Given the description of an element on the screen output the (x, y) to click on. 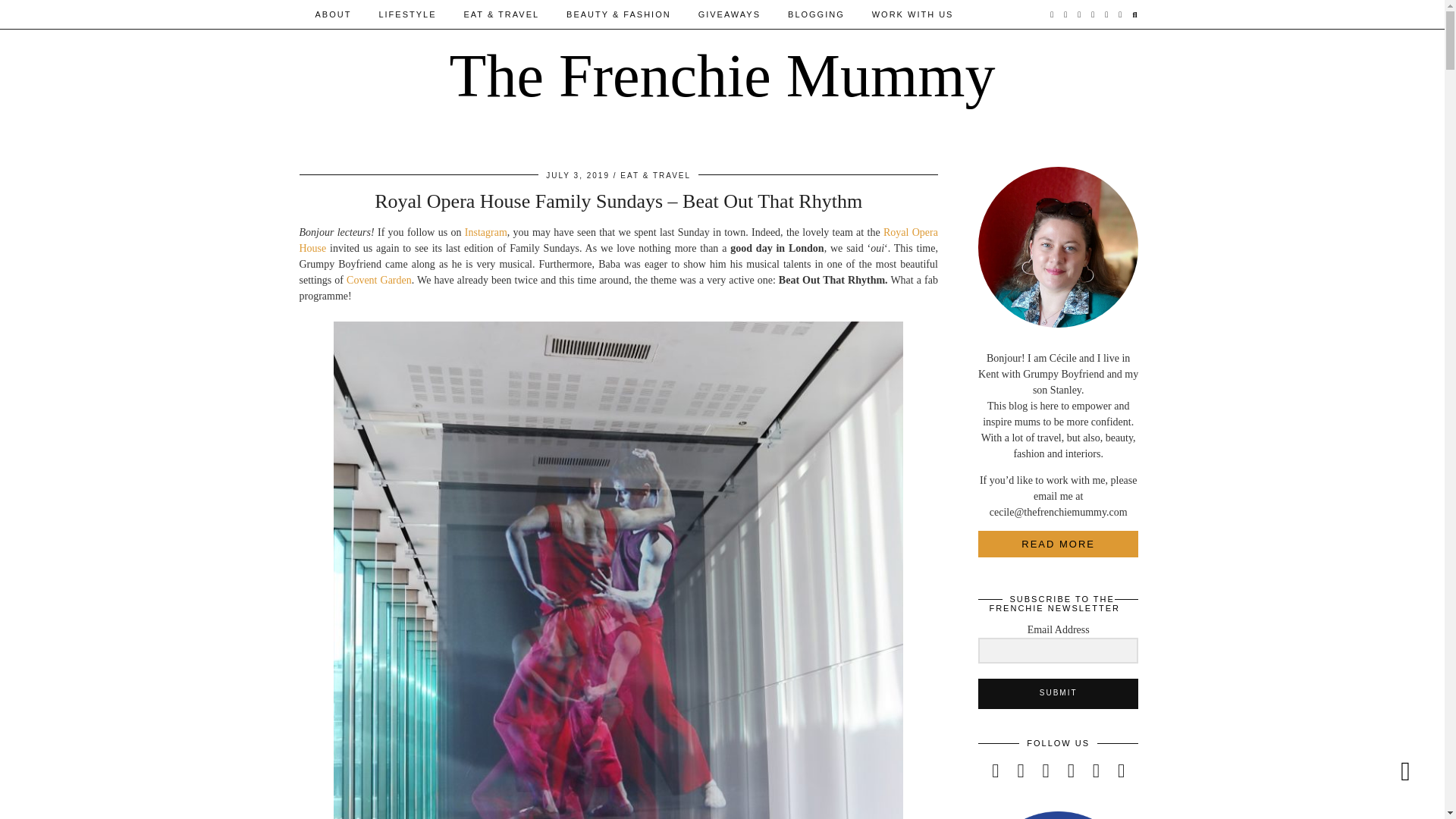
The Frenchie Mummy (722, 75)
GIVEAWAYS (729, 14)
The Frenchie Mummy (722, 75)
LIFESTYLE (407, 14)
Covent Garden (379, 279)
BLOGGING (816, 14)
WORK WITH US (913, 14)
Instagram (485, 232)
ABOUT (333, 14)
Royal Opera House (617, 239)
